Given the description of an element on the screen output the (x, y) to click on. 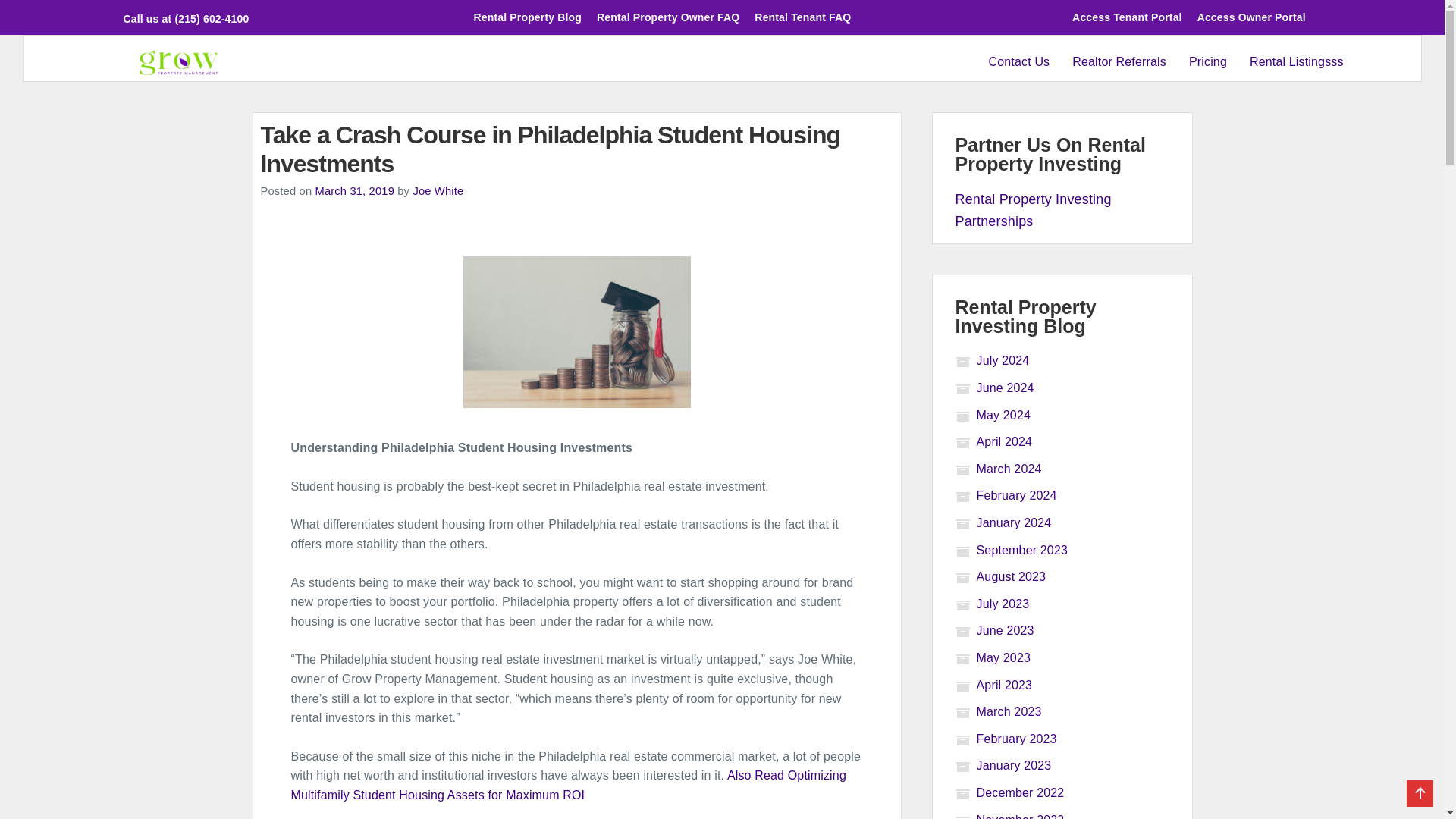
Rental Property Blog (527, 17)
February 2024 (1006, 495)
Rental Tenant FAQ (802, 17)
Realtor Referrals (1119, 62)
Access Owner Portal (1251, 17)
May 2024 (992, 414)
Rental Property Investing Partnerships (1033, 210)
March 2024 (998, 468)
Joe White (437, 191)
September 2023 (1011, 549)
June 2024 (994, 387)
Rental Property Owner FAQ (667, 17)
Rental Listingsss (1297, 62)
Access Tenant Portal (1126, 17)
